Given the description of an element on the screen output the (x, y) to click on. 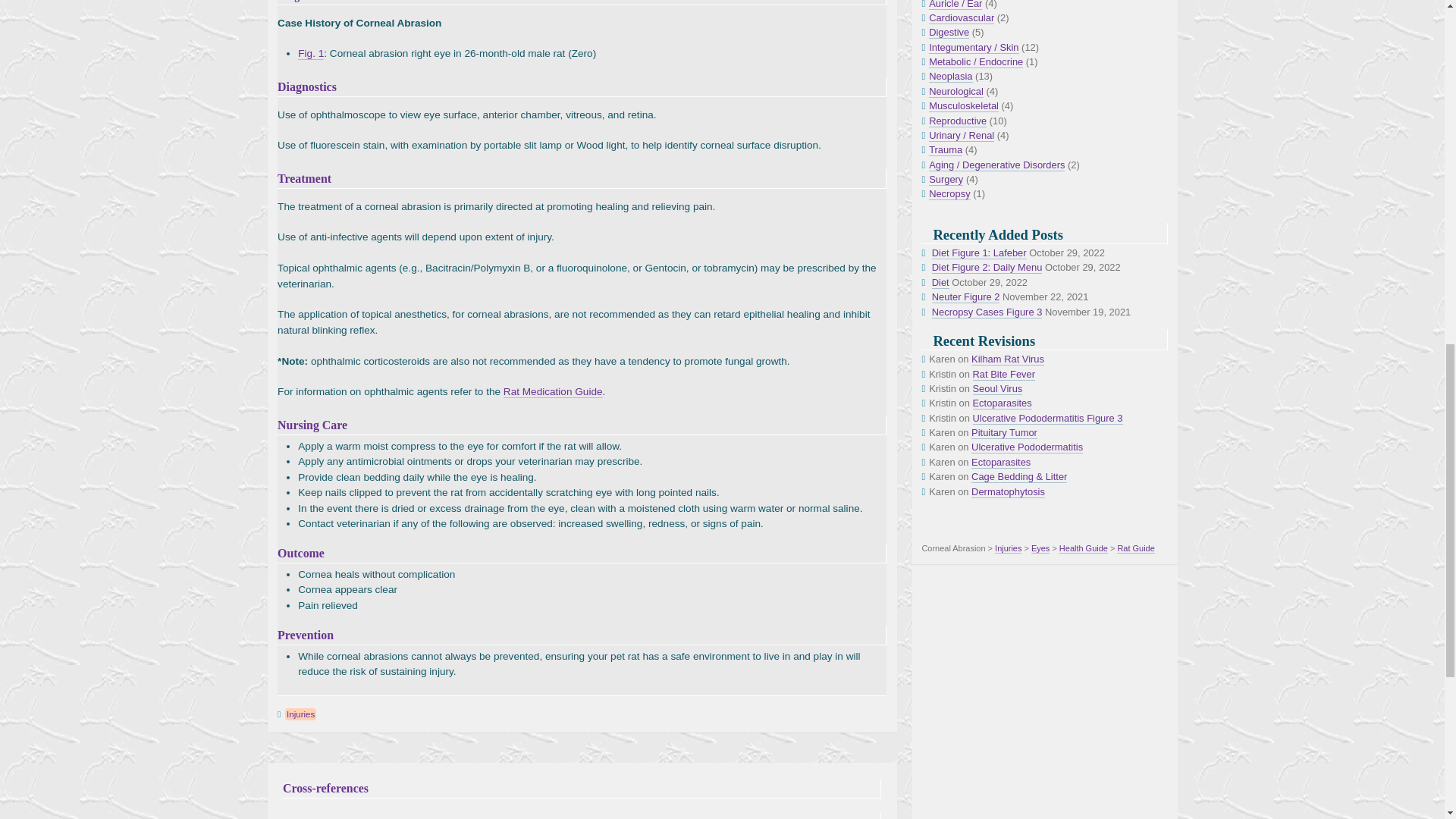
Rat Medication Guide (552, 391)
2 months ago (1007, 358)
3 months ago (1027, 447)
2 months ago (1002, 403)
2 months ago (1003, 374)
3 months ago (1047, 418)
Fig. 1 (310, 53)
3 months ago (1003, 432)
3 months ago (1019, 476)
3 months ago (1000, 462)
Injuries (300, 714)
2 months ago (997, 388)
